Given the description of an element on the screen output the (x, y) to click on. 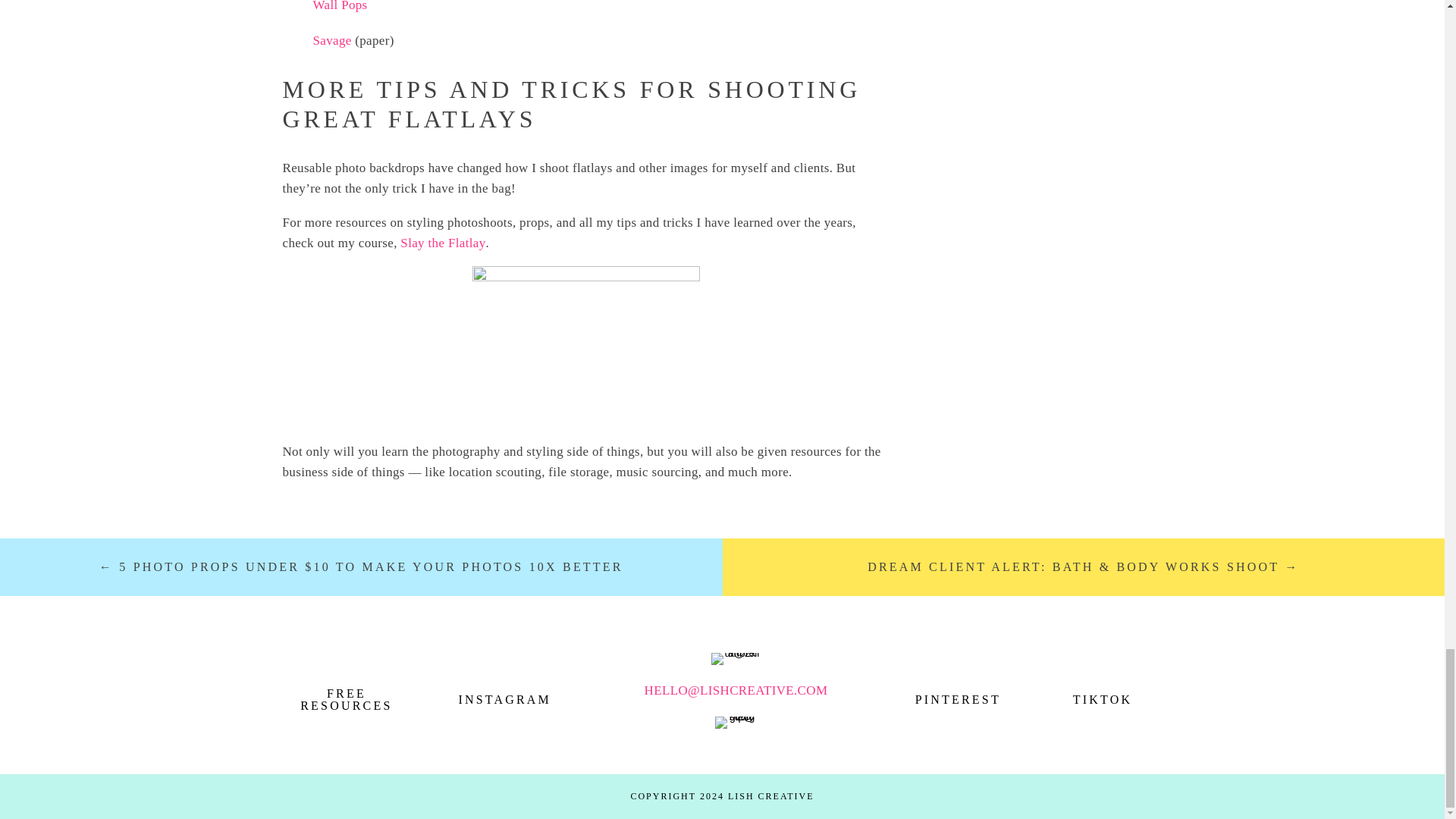
Slay the Flatlay (442, 242)
Savage (331, 40)
Wall Pops (339, 6)
